Given the description of an element on the screen output the (x, y) to click on. 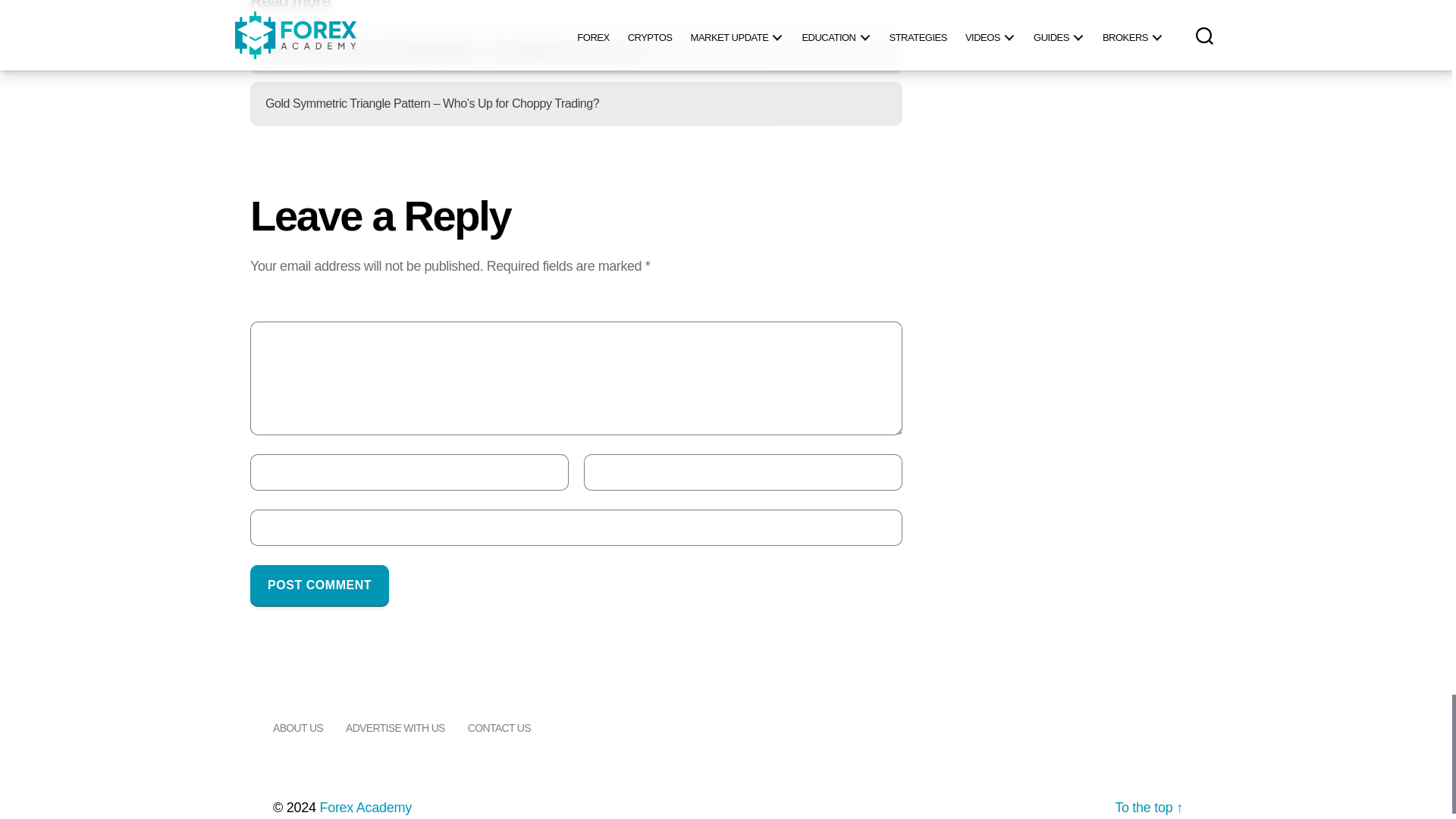
Post Comment (319, 585)
